Given the description of an element on the screen output the (x, y) to click on. 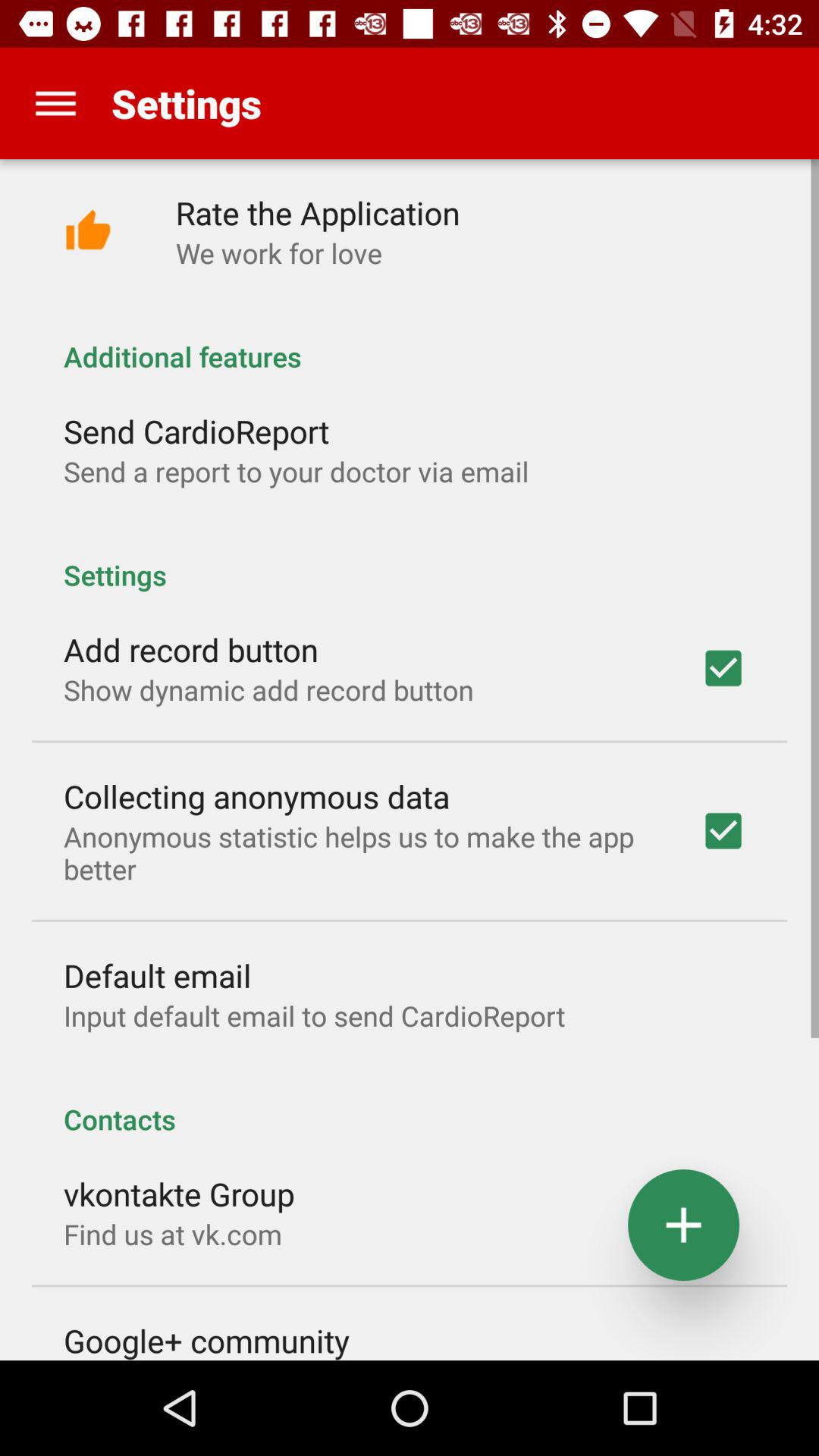
select app below contacts item (178, 1193)
